Given the description of an element on the screen output the (x, y) to click on. 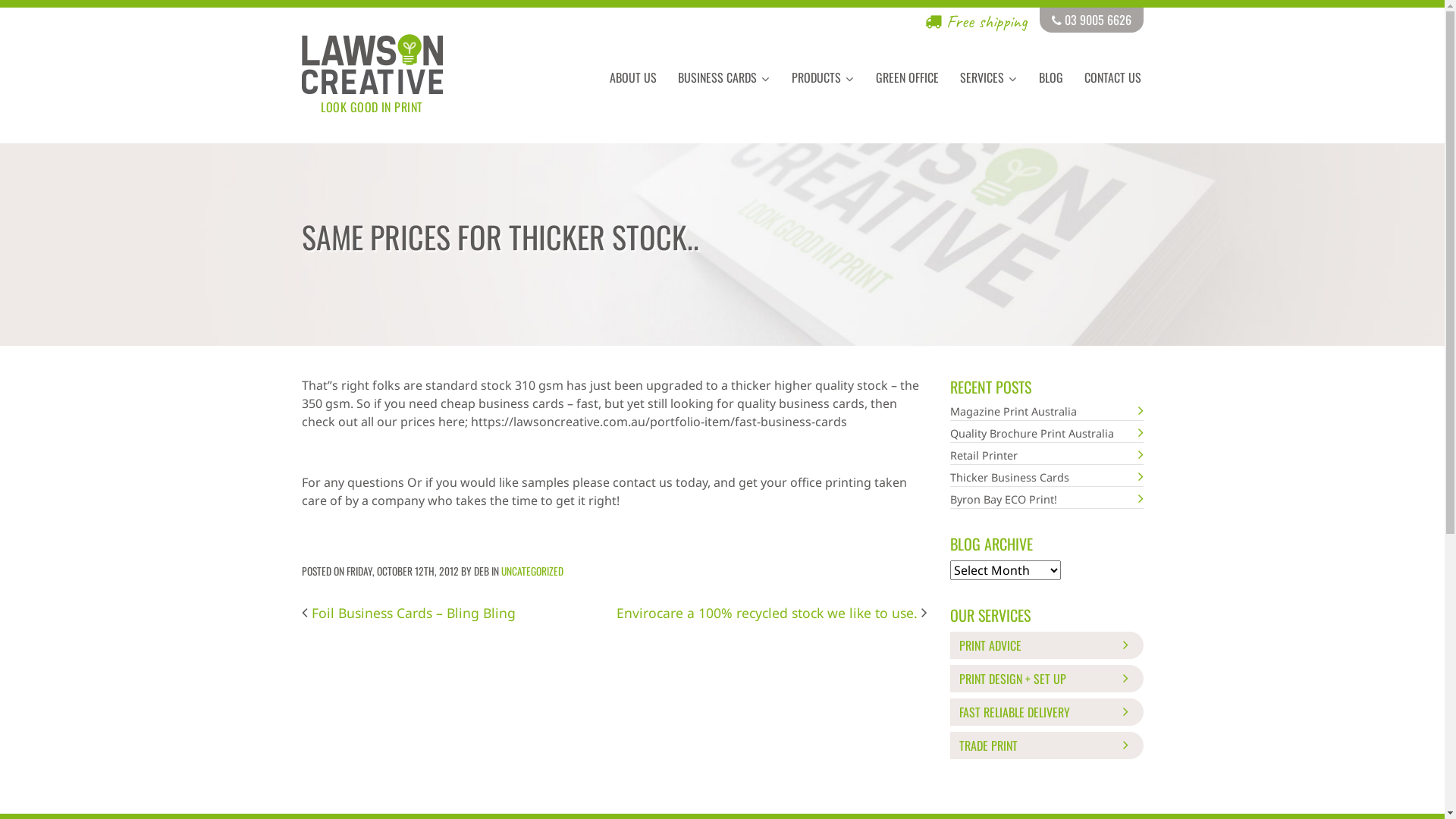
PRINT DESIGN + SET UP Element type: text (1045, 678)
PRODUCTS Element type: text (823, 77)
PRINT ADVICE Element type: text (1045, 644)
Quality Brochure Print Australia Element type: text (1045, 433)
cheap business cards Element type: text (502, 403)
TRADE PRINT Element type: text (1045, 745)
SERVICES Element type: text (988, 77)
GREEN OFFICE Element type: text (907, 77)
CONTACT US Element type: text (1112, 77)
ABOUT US Element type: text (633, 77)
BLOG Element type: text (1050, 77)
contact us Element type: text (643, 481)
BUSINESS CARDS Element type: text (724, 77)
Retail Printer Element type: text (1045, 455)
UNCATEGORIZED Element type: text (531, 570)
Thicker Business Cards Element type: text (1045, 477)
Envirocare a 100% recycled stock we like to use.  Element type: text (770, 612)
FAST RELIABLE DELIVERY Element type: text (1045, 711)
Magazine Print Australia Element type: text (1045, 411)
03 9005 6626 Element type: text (1090, 19)
Byron Bay ECO Print! Element type: text (1045, 499)
